Given the description of an element on the screen output the (x, y) to click on. 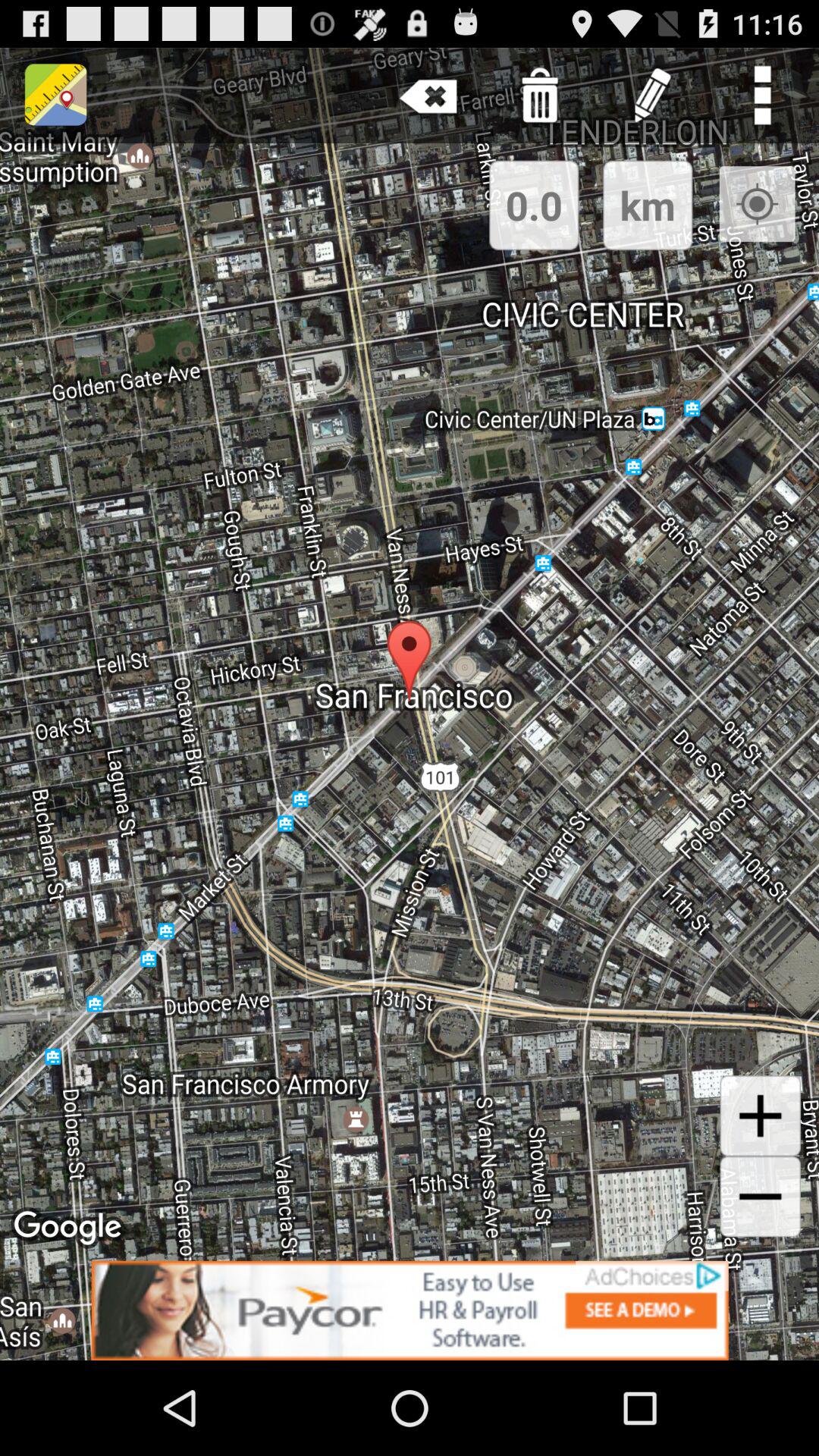
open advertisement (409, 1310)
